Given the description of an element on the screen output the (x, y) to click on. 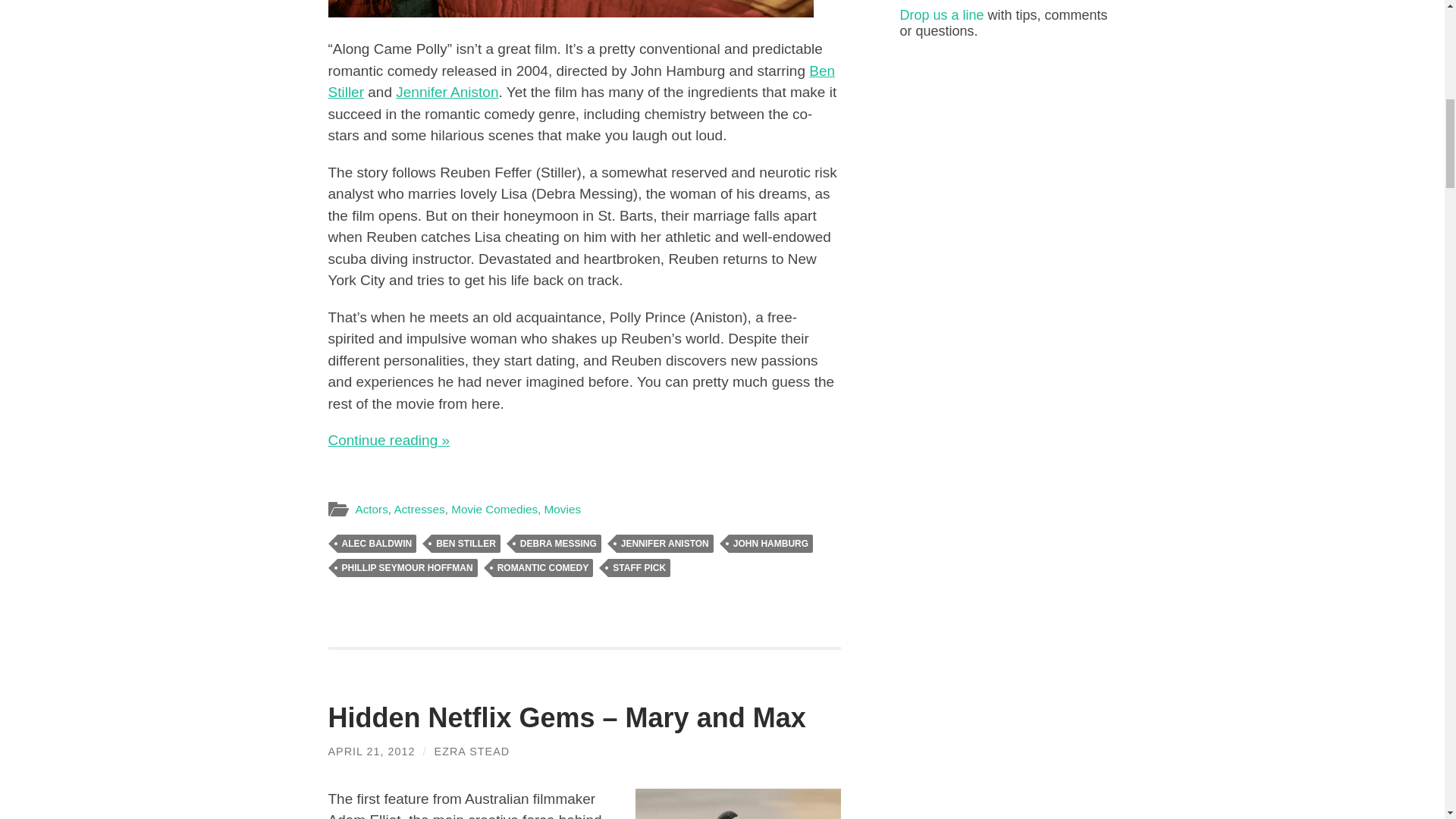
ROMANTIC COMEDY (543, 567)
DEBRA MESSING (558, 543)
JOHN HAMBURG (770, 543)
PHILLIP SEYMOUR HOFFMAN (406, 567)
ALEC BALDWIN (376, 543)
Ben Stiller (580, 81)
Jennifer Aniston (446, 91)
Movie Comedies (494, 508)
Actors (371, 508)
STAFF PICK (638, 567)
